Given the description of an element on the screen output the (x, y) to click on. 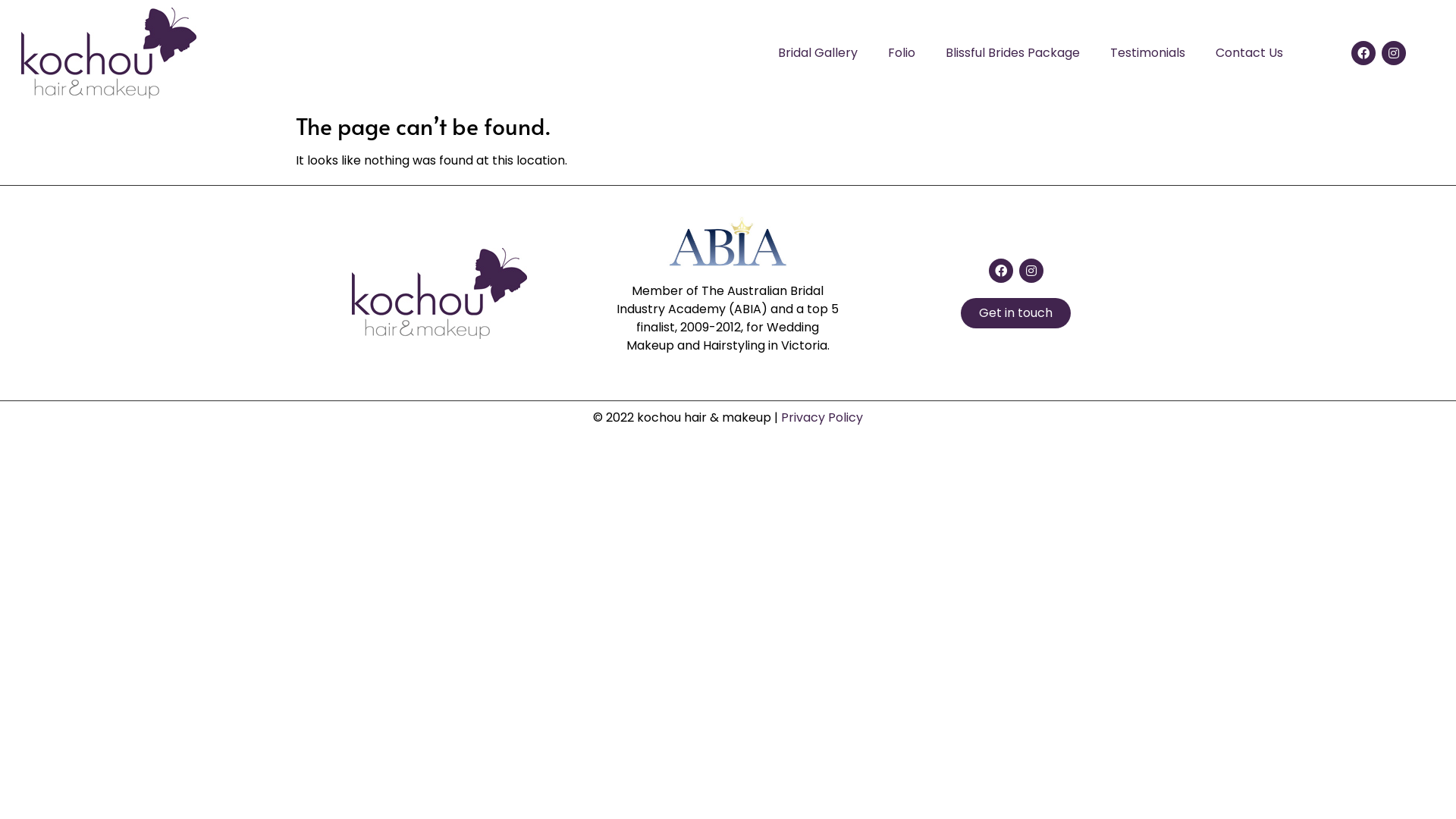
Folio Element type: text (900, 52)
Bridal Gallery Element type: text (817, 52)
Contact Us Element type: text (1248, 52)
Testimonials Element type: text (1147, 52)
Get in touch Element type: text (1015, 313)
Blissful Brides Package Element type: text (1011, 52)
Privacy Policy Element type: text (821, 417)
